Given the description of an element on the screen output the (x, y) to click on. 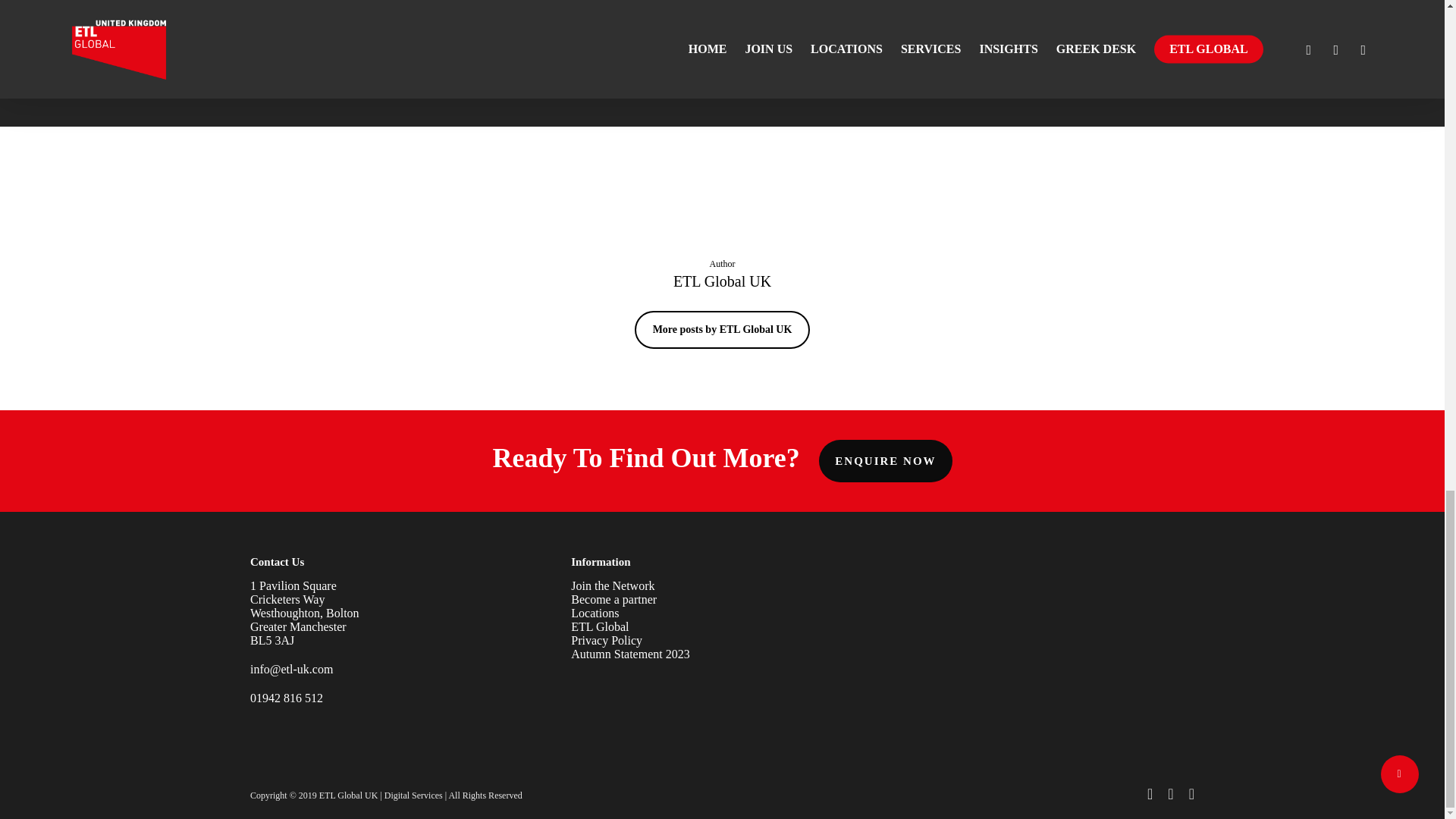
More posts by ETL Global UK (722, 329)
